Given the description of an element on the screen output the (x, y) to click on. 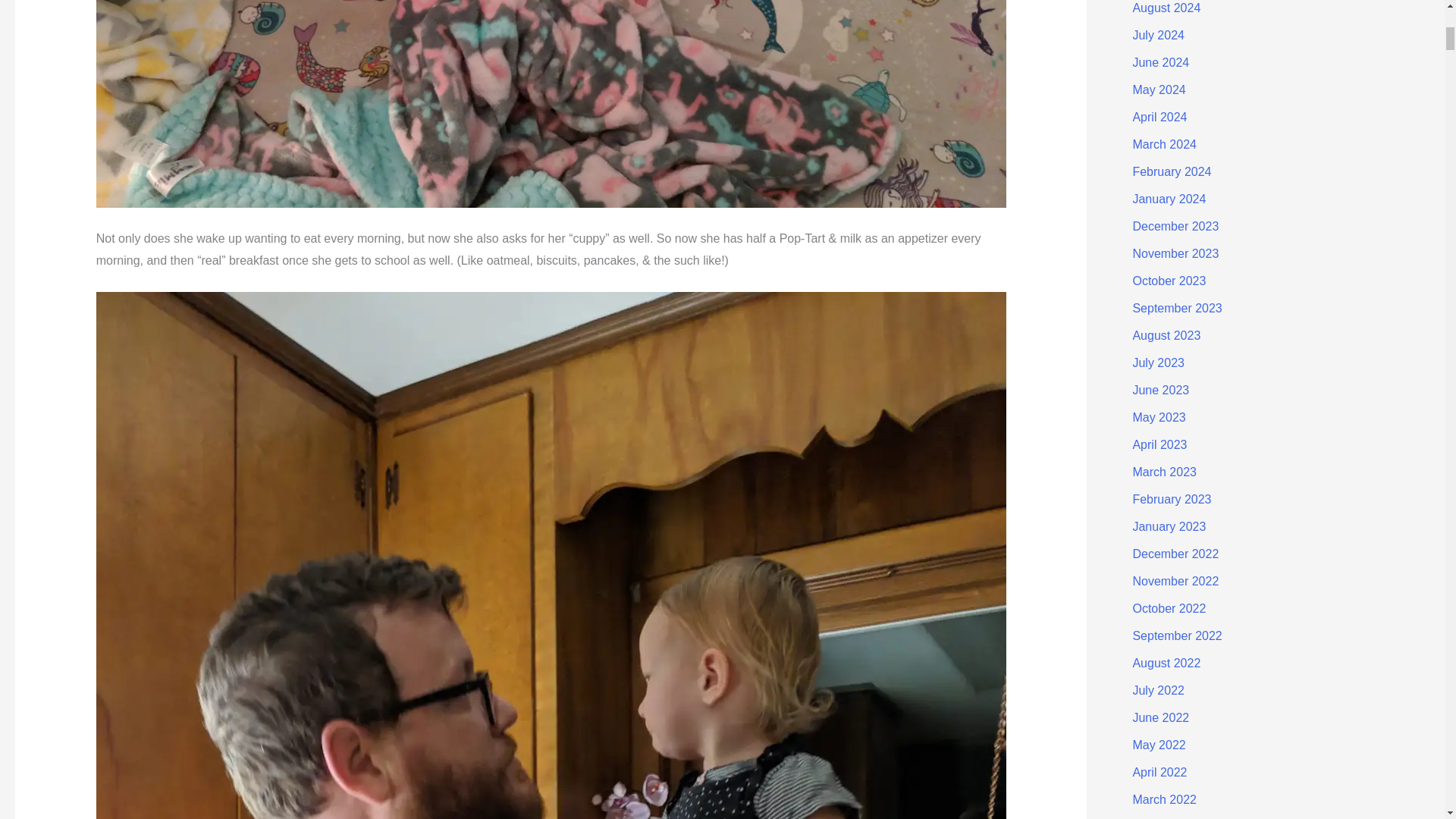
October 2023 (1168, 280)
February 2024 (1171, 171)
September 2023 (1176, 308)
April 2024 (1159, 116)
January 2024 (1168, 198)
March 2024 (1164, 144)
May 2024 (1158, 89)
December 2023 (1175, 226)
June 2024 (1160, 62)
November 2023 (1175, 253)
